Given the description of an element on the screen output the (x, y) to click on. 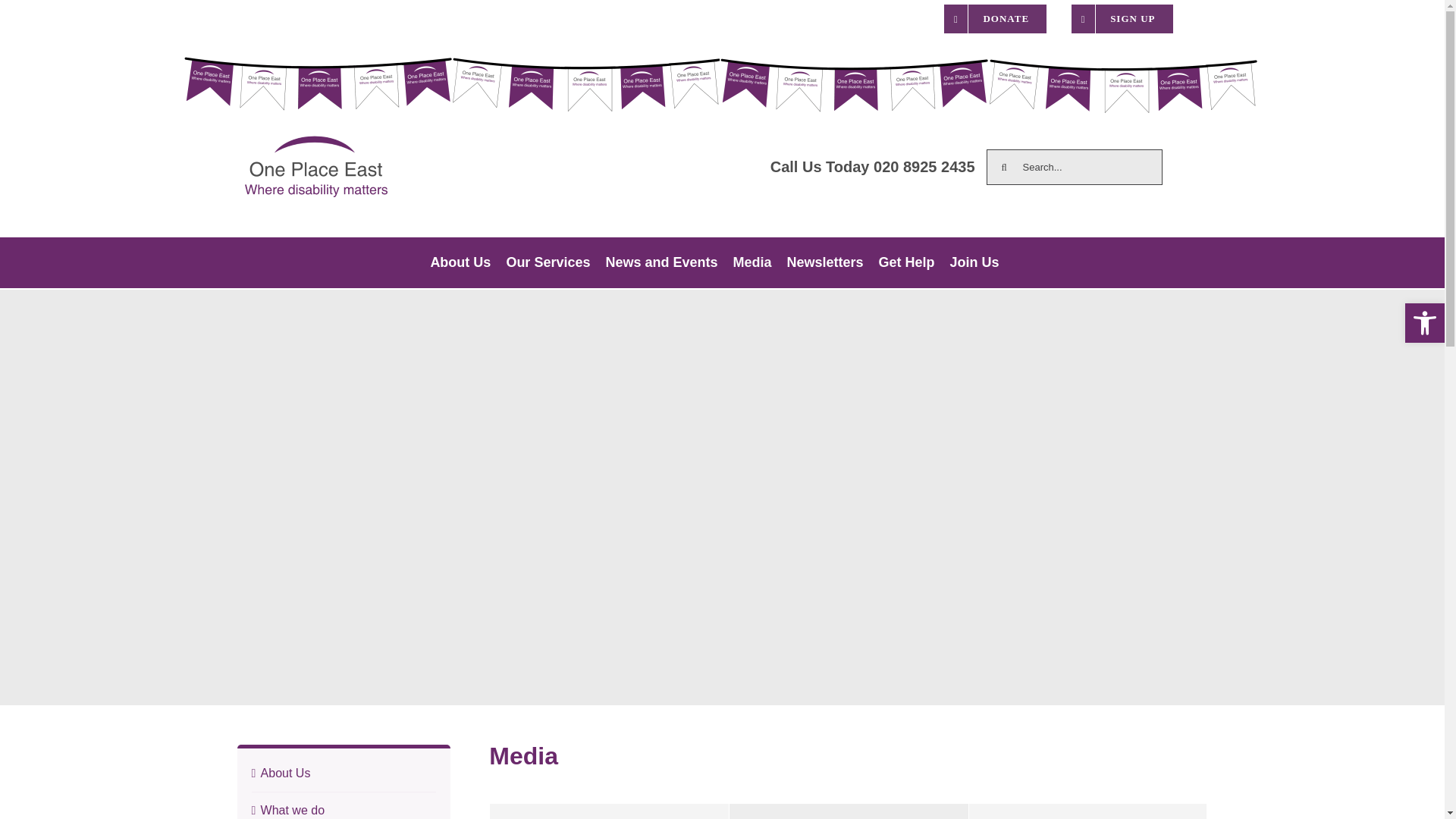
Newsletters (824, 262)
Media (751, 262)
DONATE (994, 18)
Get Help (906, 262)
SIGN UP (1122, 18)
About Us (459, 262)
Accessibility Tools (1424, 322)
Our Services (546, 262)
News and Events (660, 262)
